Given the description of an element on the screen output the (x, y) to click on. 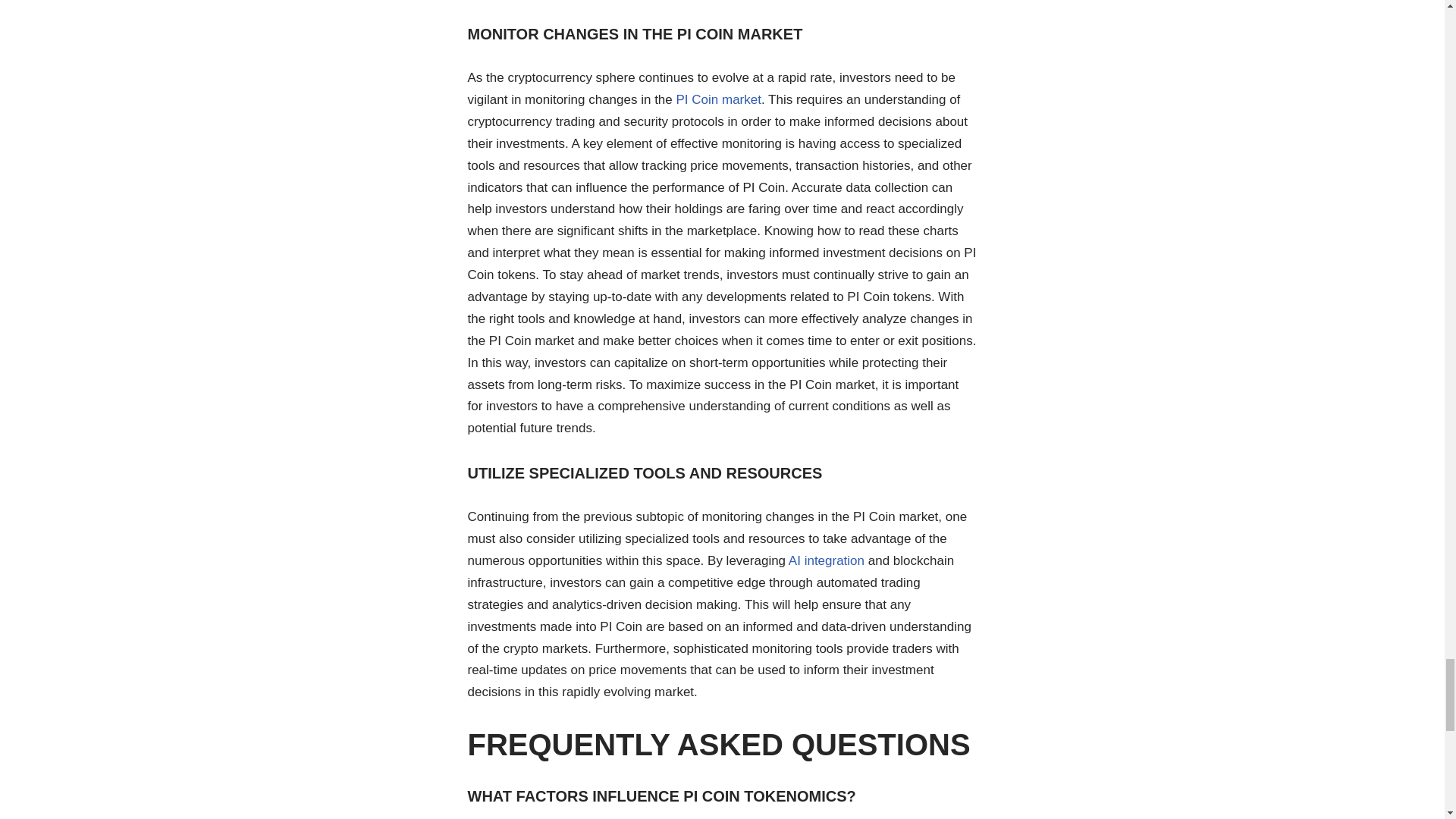
AI integration (826, 560)
PI Coin market (719, 99)
PI Coin market (719, 99)
